Given the description of an element on the screen output the (x, y) to click on. 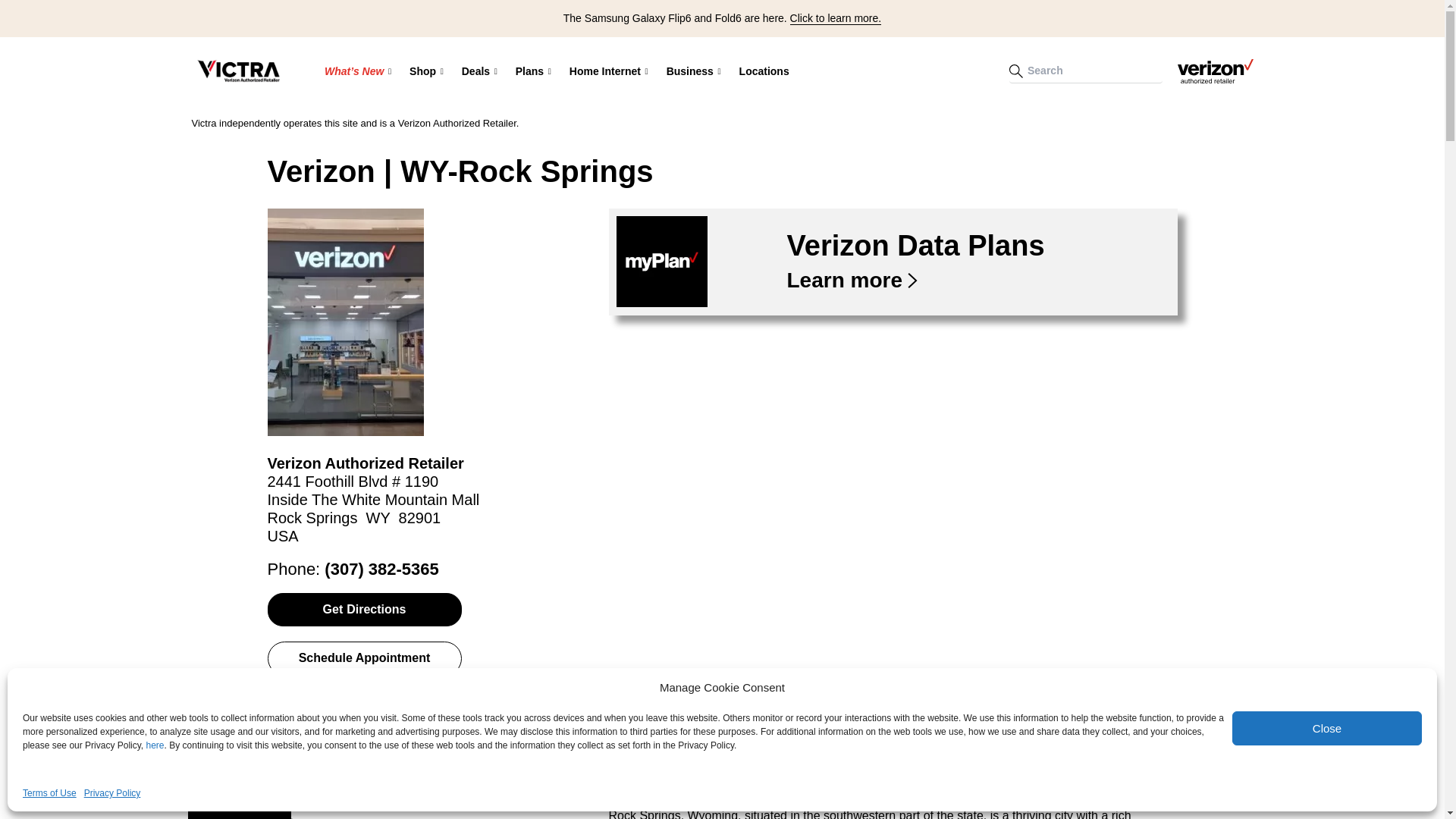
Accessories (561, 121)
Terms of Use (50, 793)
Apple iPhone 15 Series (424, 121)
Apple (561, 122)
Deals (479, 70)
Click to learn more. (836, 18)
Mobile (615, 122)
here (155, 745)
Shop (426, 70)
Apple (510, 122)
Close (1326, 728)
All Devices (510, 121)
Plans (533, 70)
Privacy Policy (112, 793)
